Given the description of an element on the screen output the (x, y) to click on. 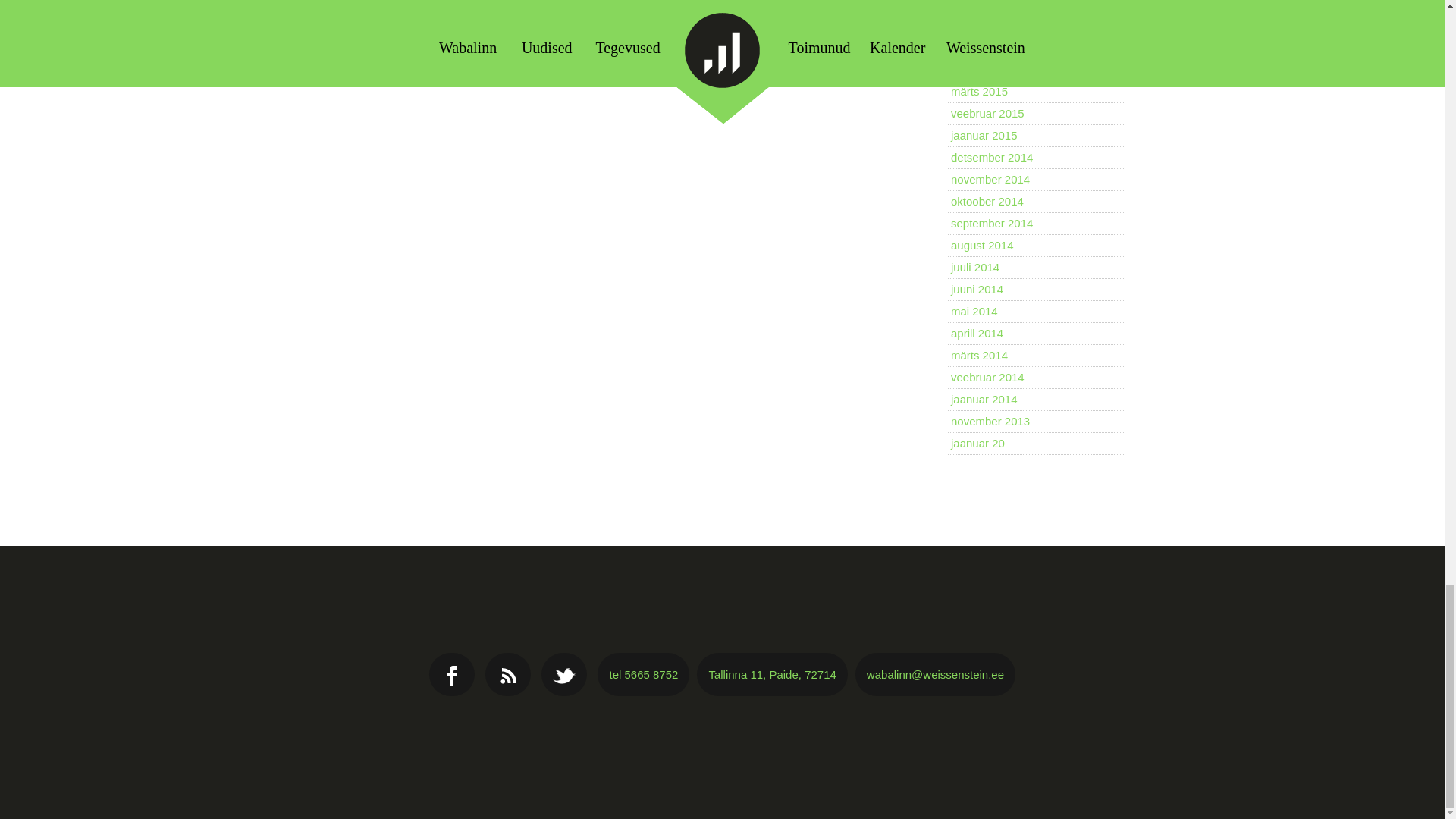
socialmedia (452, 675)
socialmedia (564, 675)
socialmedia (507, 675)
